Given the description of an element on the screen output the (x, y) to click on. 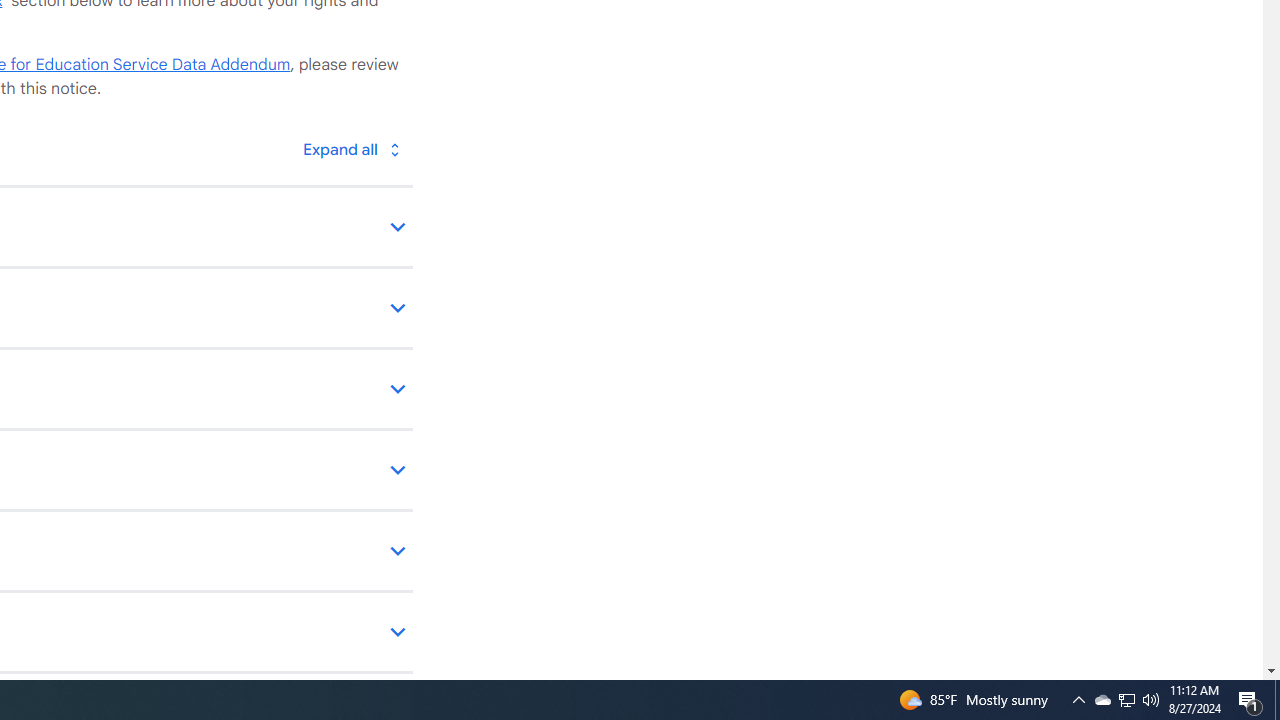
Toggle all (351, 148)
